Given the description of an element on the screen output the (x, y) to click on. 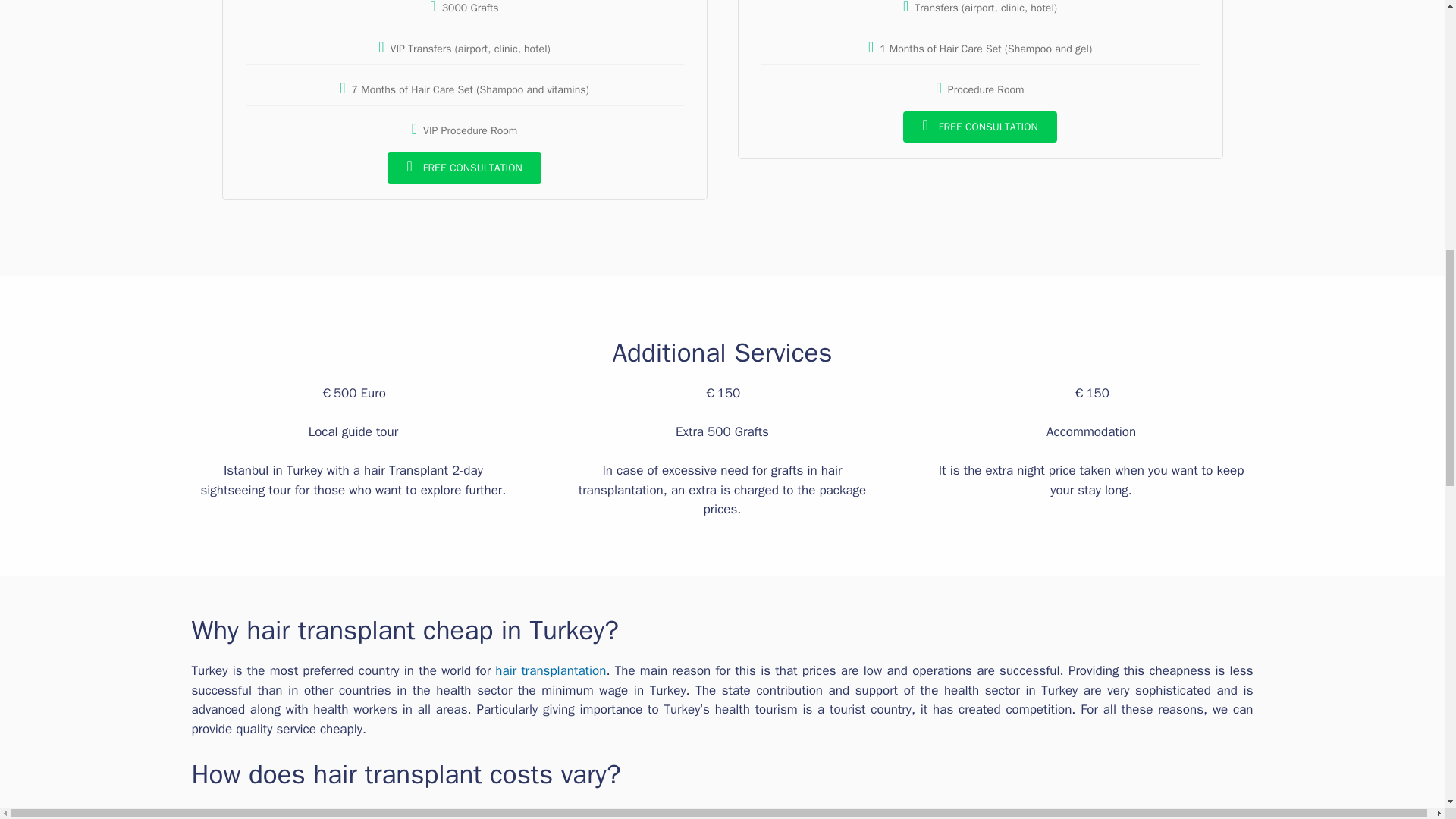
FREE CONSULTATION (463, 167)
hair transplantation (550, 670)
Hair Transplant Clinic (614, 812)
FREE CONSULTATION (979, 126)
